Given the description of an element on the screen output the (x, y) to click on. 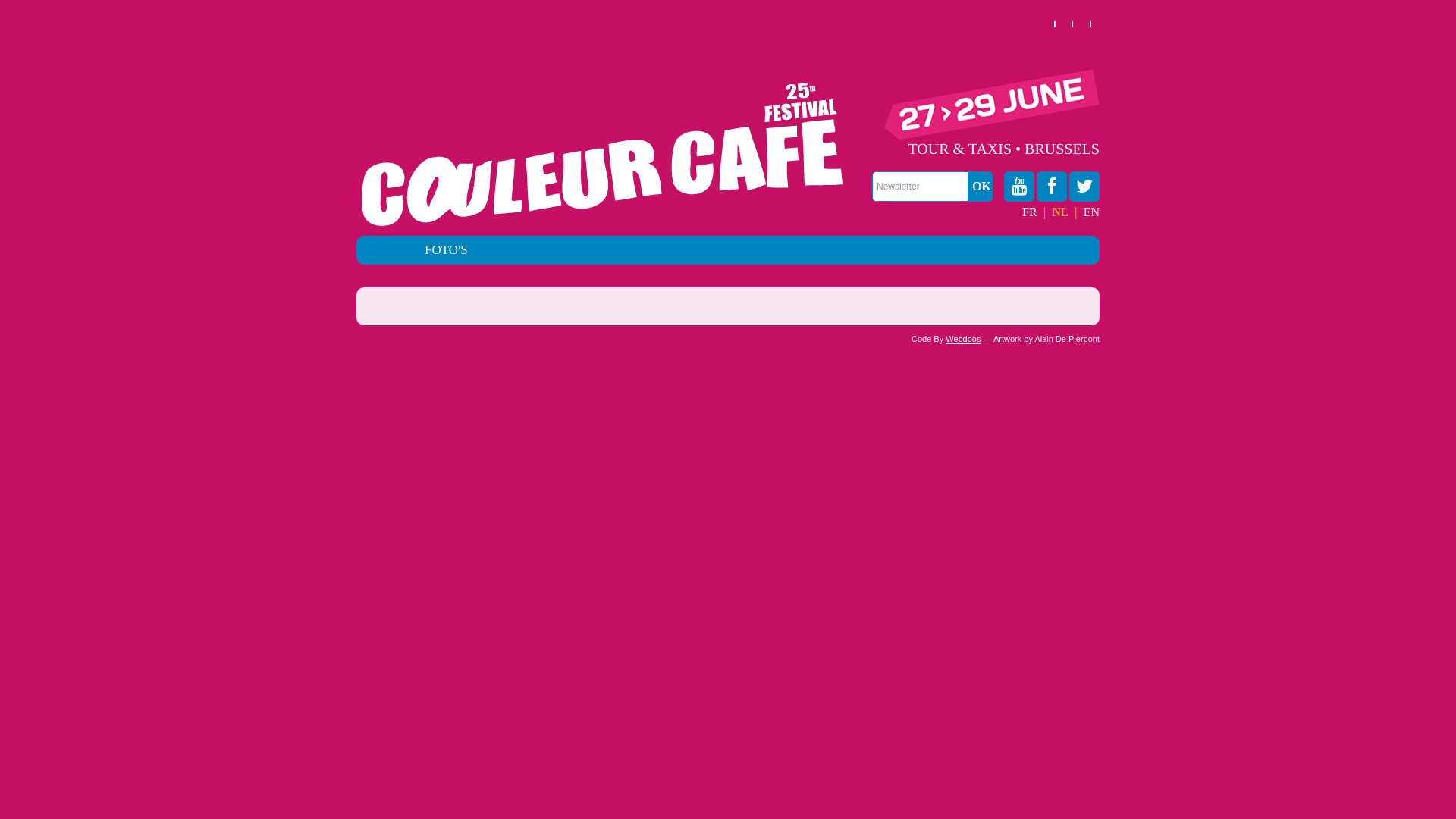
EN Element type: text (1091, 211)
FOTO'S Element type: text (446, 249)
NL Element type: text (1059, 211)
Webdoos Element type: text (962, 338)
FRIEND US ON FACEBOOK! Element type: text (1051, 186)
FR Element type: text (1029, 211)
ok Element type: text (980, 186)
FRIEND US ON TWITTER! Element type: text (1084, 186)
FOLLOW US ON YOUTUBE! Element type: text (1019, 186)
